Given the description of an element on the screen output the (x, y) to click on. 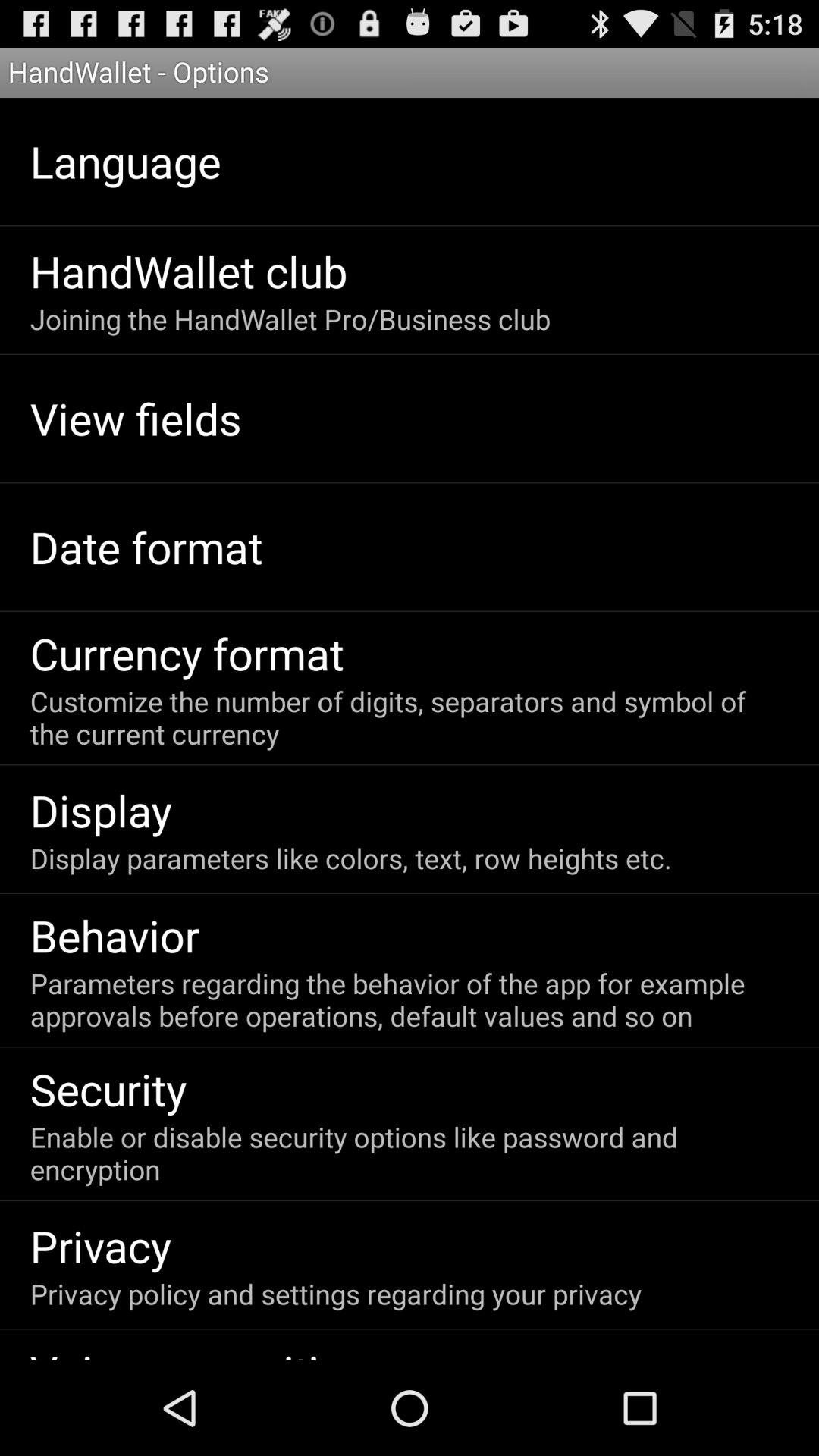
turn on app below the view fields item (146, 546)
